Given the description of an element on the screen output the (x, y) to click on. 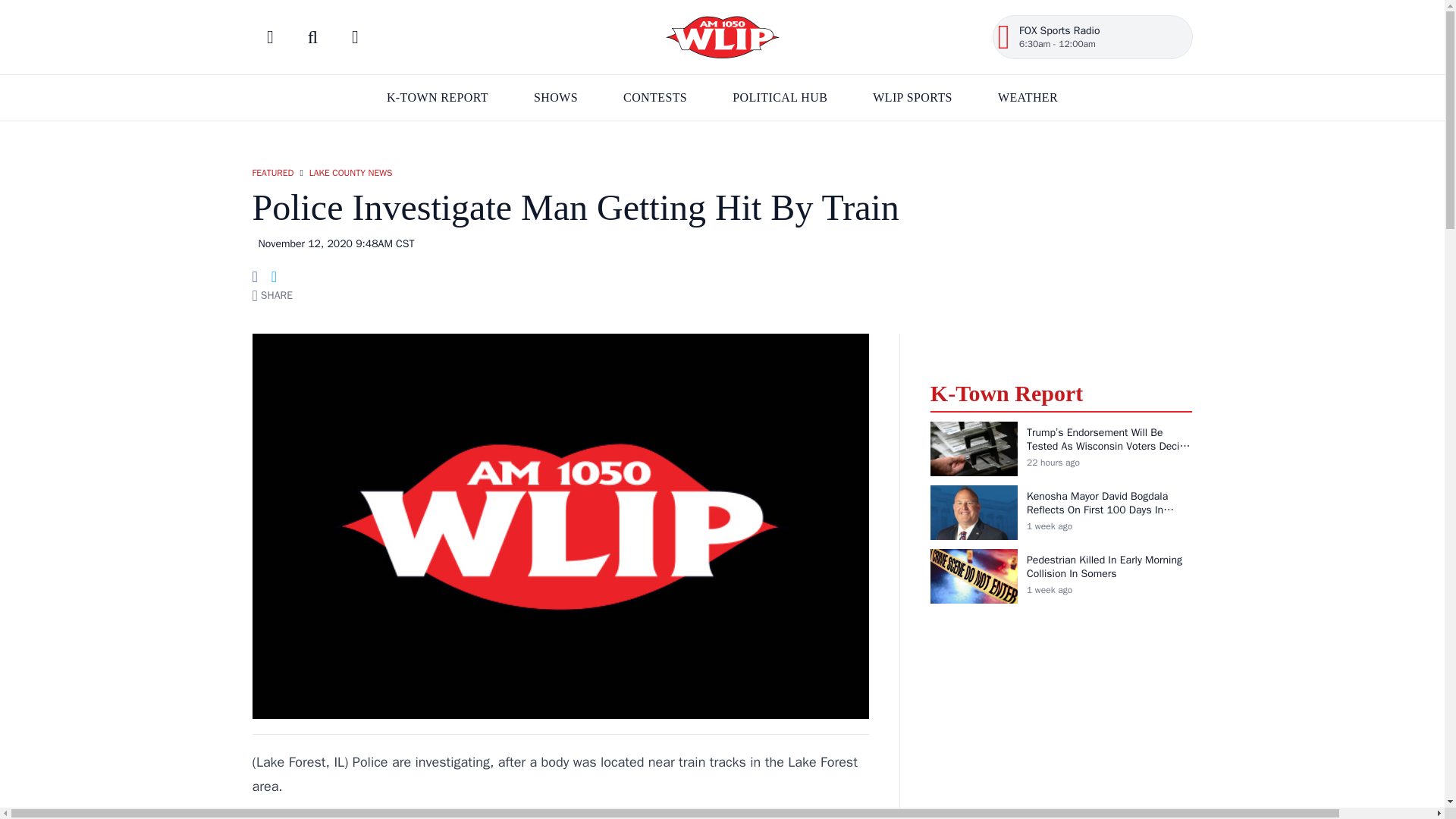
CONTESTS (655, 97)
AM 1050 WLIP (1092, 37)
K-TOWN REPORT (721, 36)
POLITICAL HUB (437, 97)
WEATHER (779, 97)
SHOWS (1027, 97)
WLIP SPORTS (556, 97)
